Given the description of an element on the screen output the (x, y) to click on. 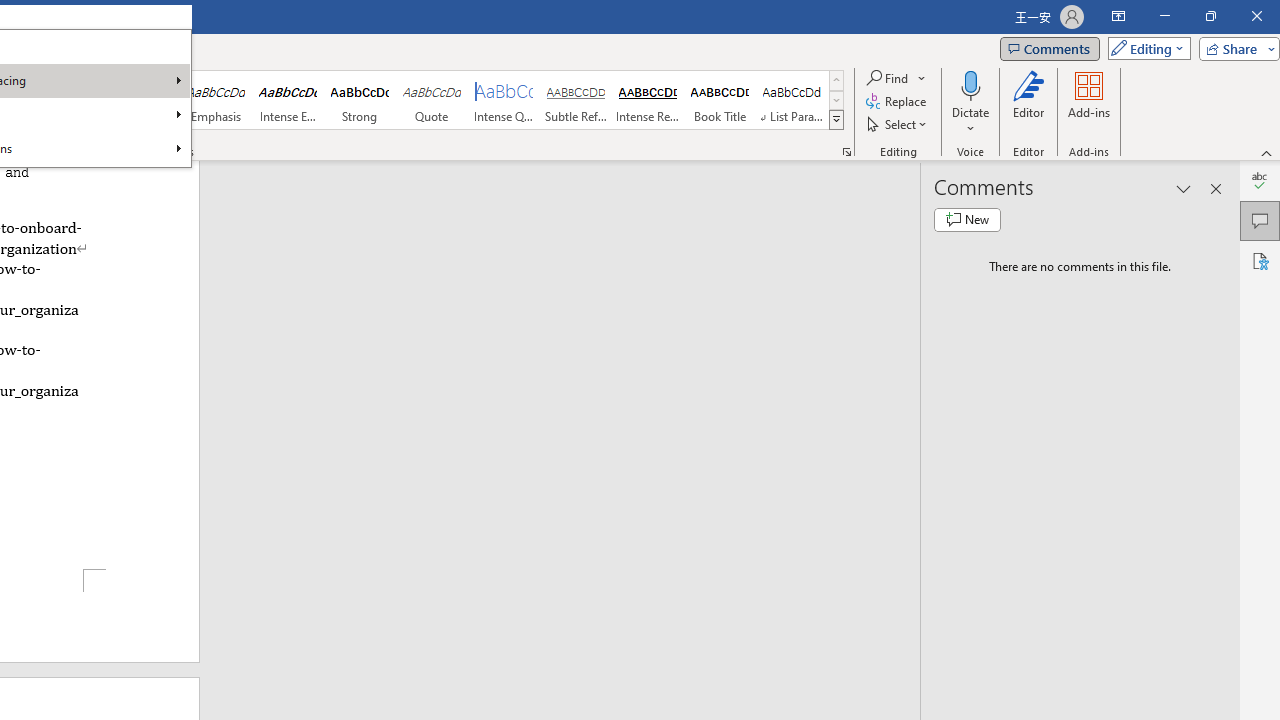
Styles... (846, 151)
Row Down (836, 100)
Find (896, 78)
Strong (359, 100)
Intense Emphasis (287, 100)
Collapse the Ribbon (1267, 152)
Comments (1260, 220)
Close (1256, 16)
Close pane (1215, 188)
Editor (1028, 102)
More Options (970, 121)
Subtle Reference (575, 100)
Intense Quote (504, 100)
